Given the description of an element on the screen output the (x, y) to click on. 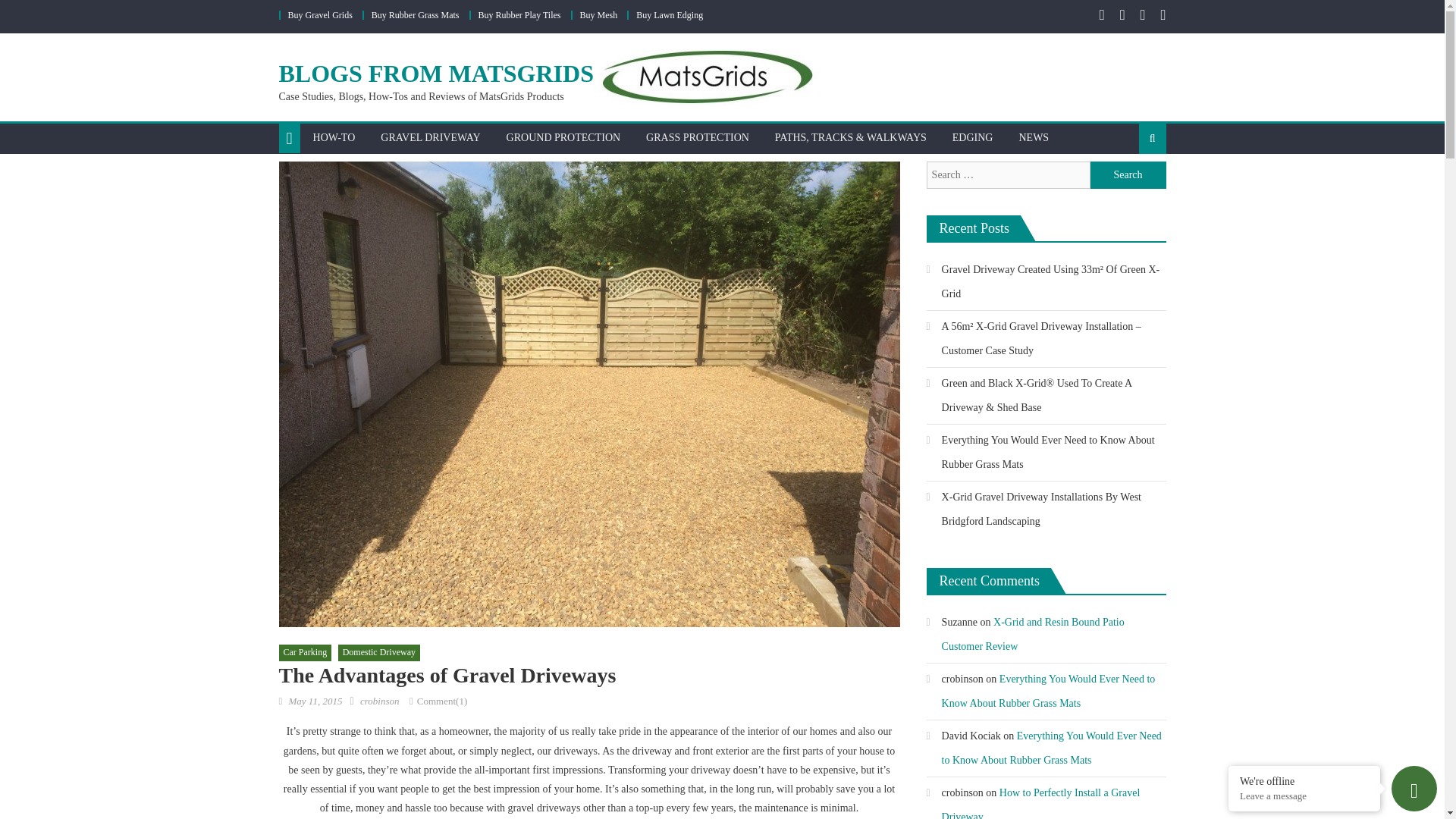
Buy Mesh (598, 14)
Car Parking (305, 652)
GRAVEL DRIVEWAY (430, 137)
crobinson (378, 700)
GRASS PROTECTION (697, 137)
Search (1128, 175)
EDGING (972, 137)
Leave a message (1304, 796)
Buy Lawn Edging (669, 14)
Buy Gravel Grids (320, 14)
Search (1128, 186)
BLOGS FROM MATSGRIDS (436, 72)
We're offline (1304, 780)
Buy Rubber Grass Mats (415, 14)
NEWS (1033, 137)
